Given the description of an element on the screen output the (x, y) to click on. 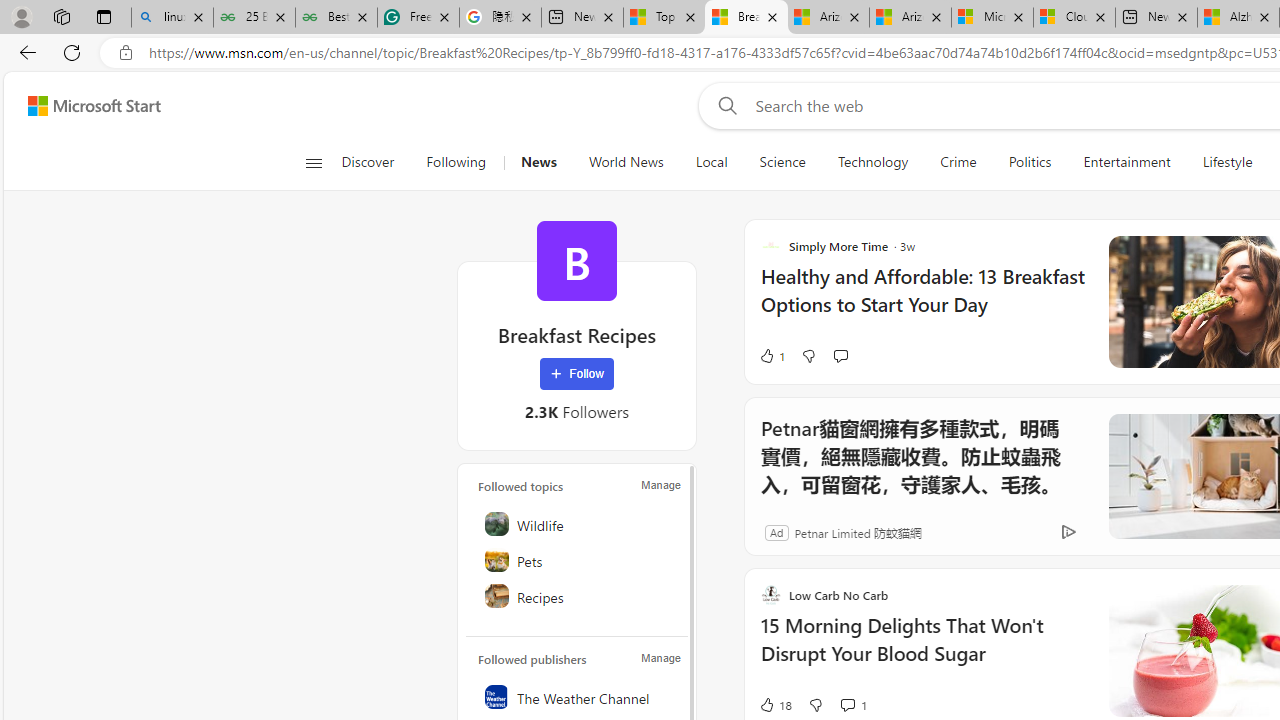
Local (711, 162)
Crime (958, 162)
Technology (872, 162)
Breakfast Recipes - MSN (746, 17)
Wildlife (578, 524)
Recipes (578, 596)
1 Like (771, 355)
Lifestyle (1227, 162)
